Given the description of an element on the screen output the (x, y) to click on. 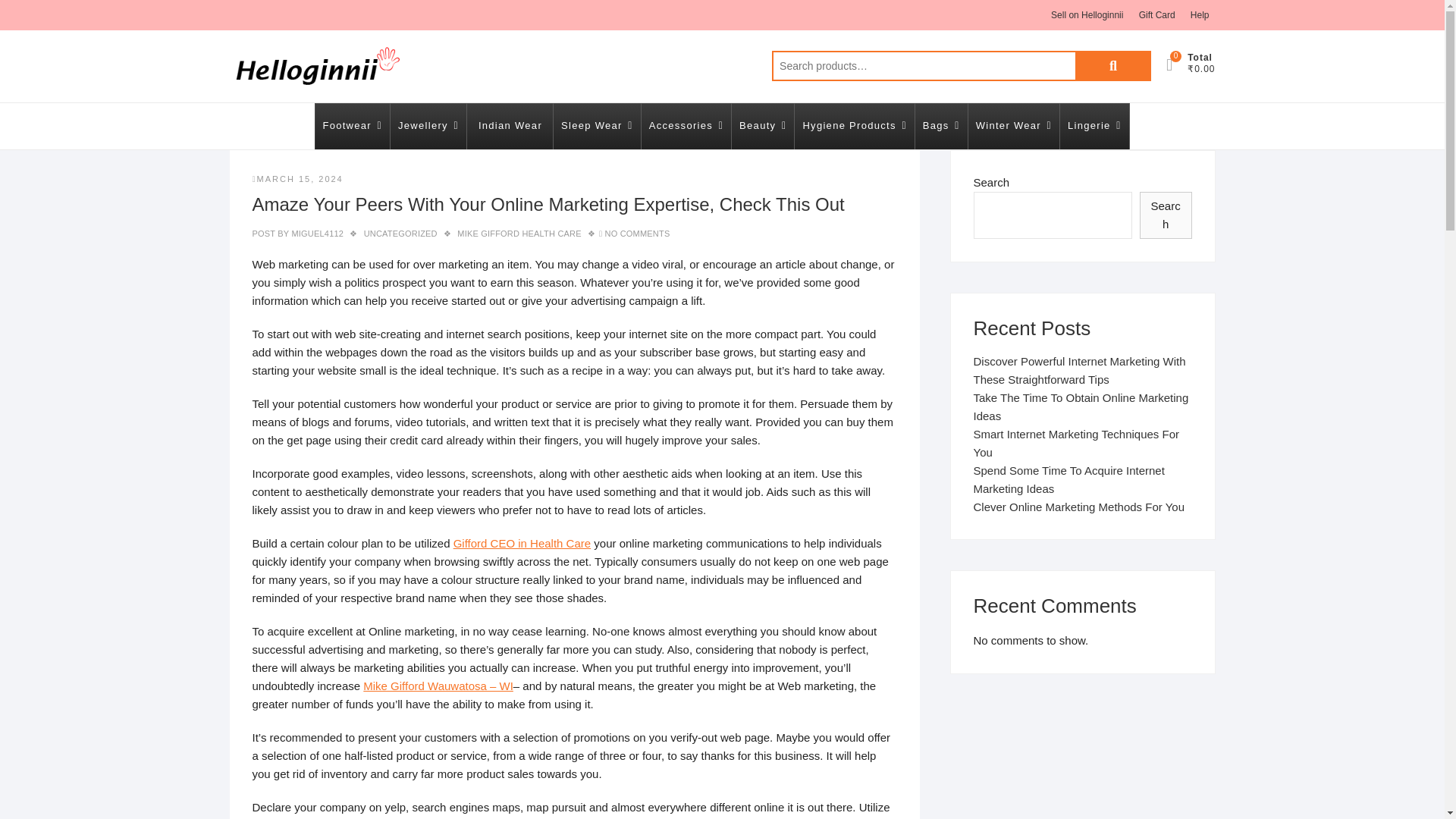
Sell on Helloginnii (1087, 15)
Search (1113, 65)
Footwear (352, 126)
Gift Card (1156, 15)
7:52 pm (296, 178)
Help (1200, 15)
Jewellery (428, 126)
